Given the description of an element on the screen output the (x, y) to click on. 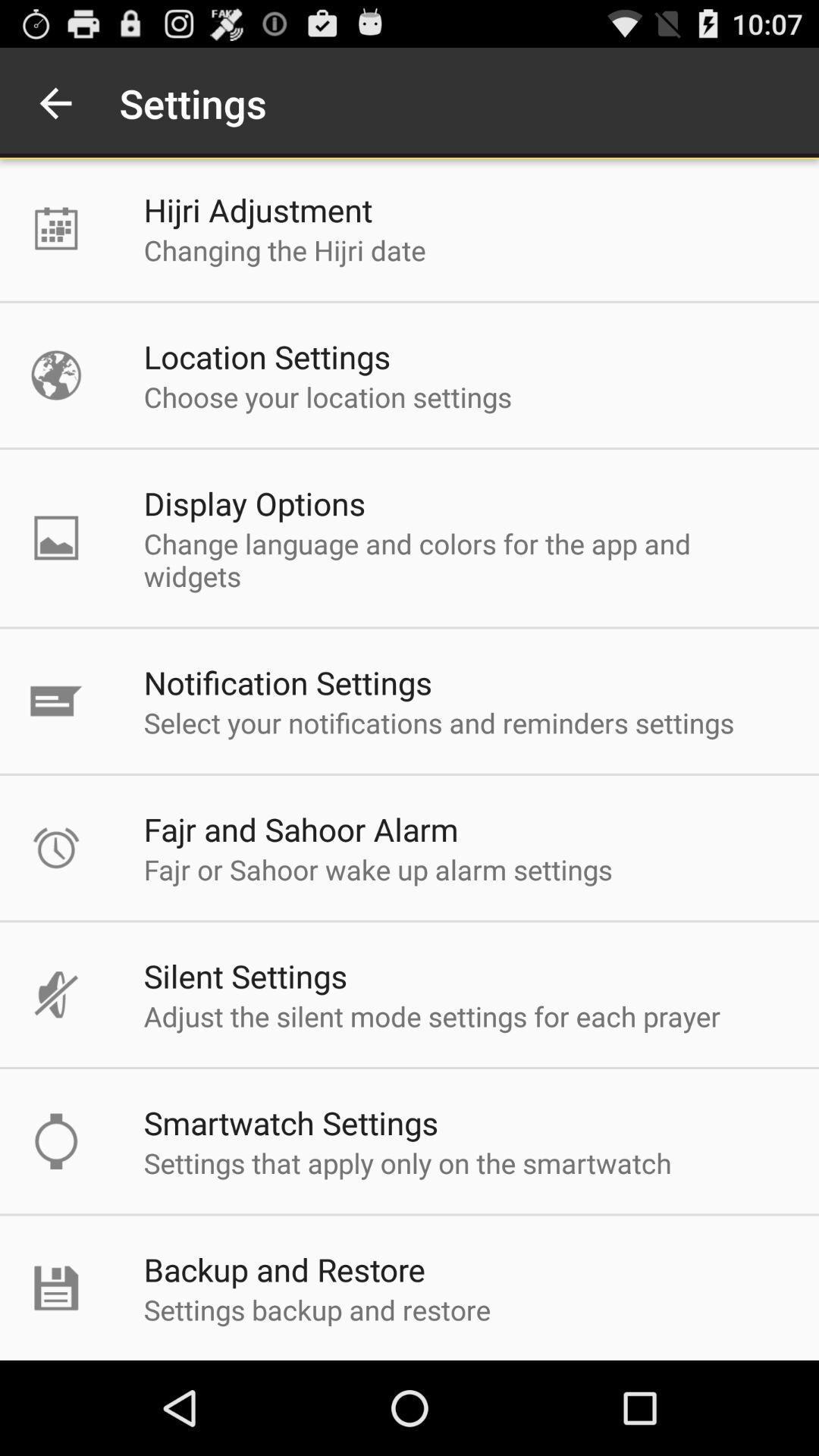
jump to notification settings app (287, 682)
